Given the description of an element on the screen output the (x, y) to click on. 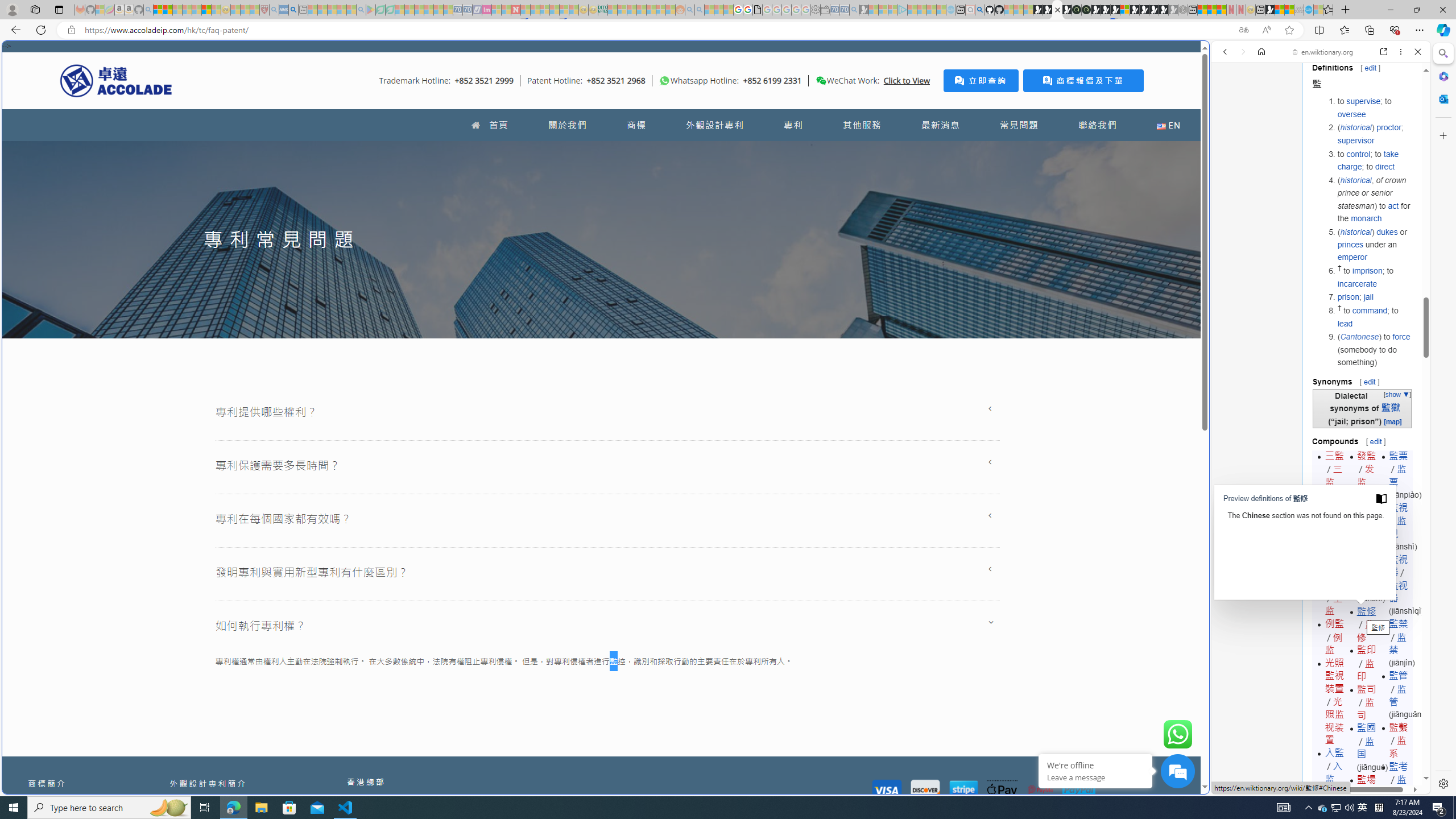
Microsoft account | Privacy (157, 9)
MSN (1269, 9)
Navy Quest (1299, 9)
WEB   (1230, 130)
google_privacy_policy_zh-CN.pdf (757, 9)
Search Filter, WEB (1230, 129)
